Given the description of an element on the screen output the (x, y) to click on. 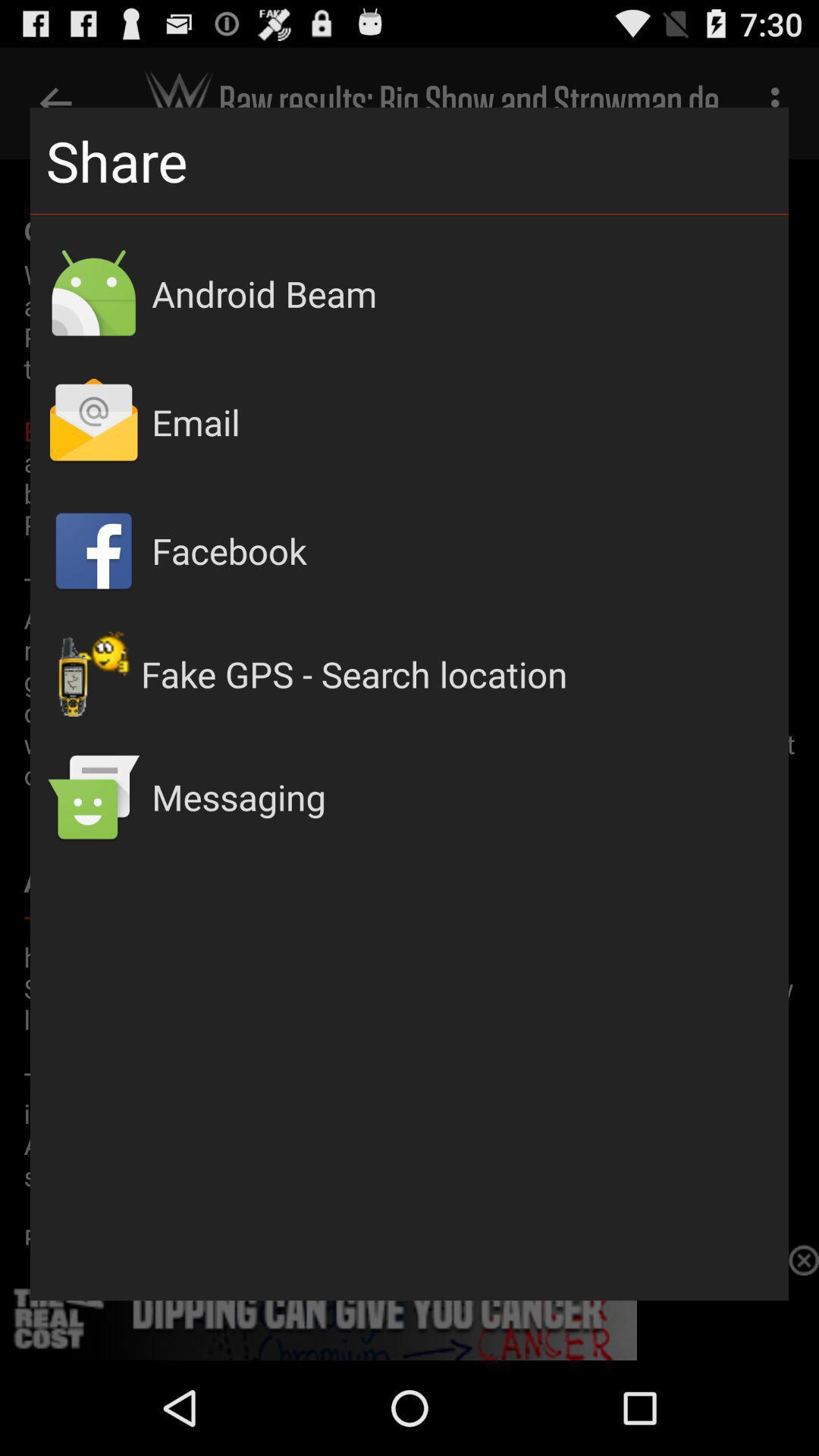
flip until the fake gps search item (456, 674)
